Given the description of an element on the screen output the (x, y) to click on. 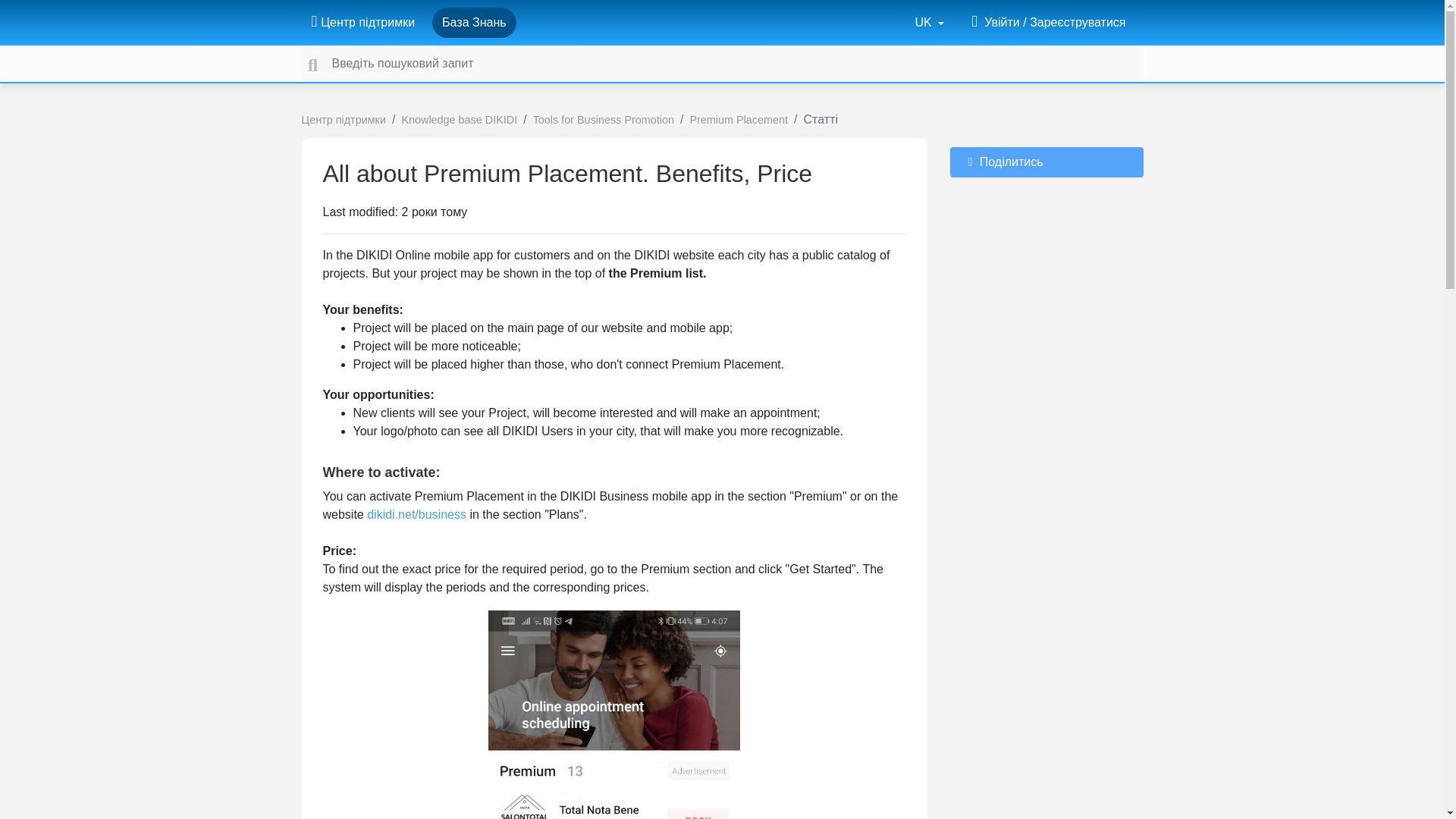
UK (929, 22)
Tools for Business Promotion (603, 119)
Knowledge base DIKIDI (458, 119)
Premium Placement (737, 119)
